Given the description of an element on the screen output the (x, y) to click on. 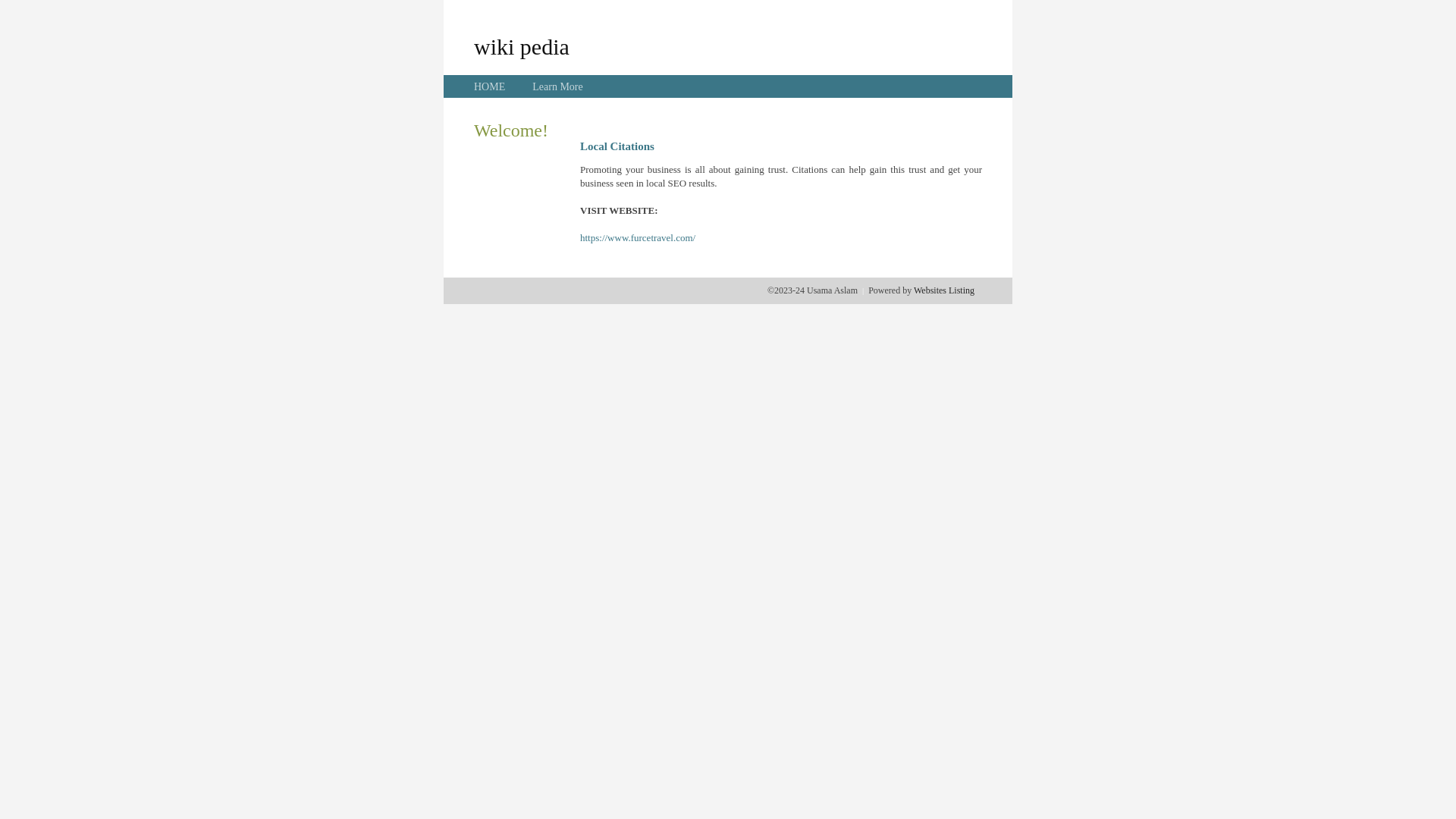
Learn More Element type: text (557, 86)
Websites Listing Element type: text (943, 290)
https://www.furcetravel.com/ Element type: text (637, 237)
HOME Element type: text (489, 86)
wiki pedia Element type: text (521, 46)
